Given the description of an element on the screen output the (x, y) to click on. 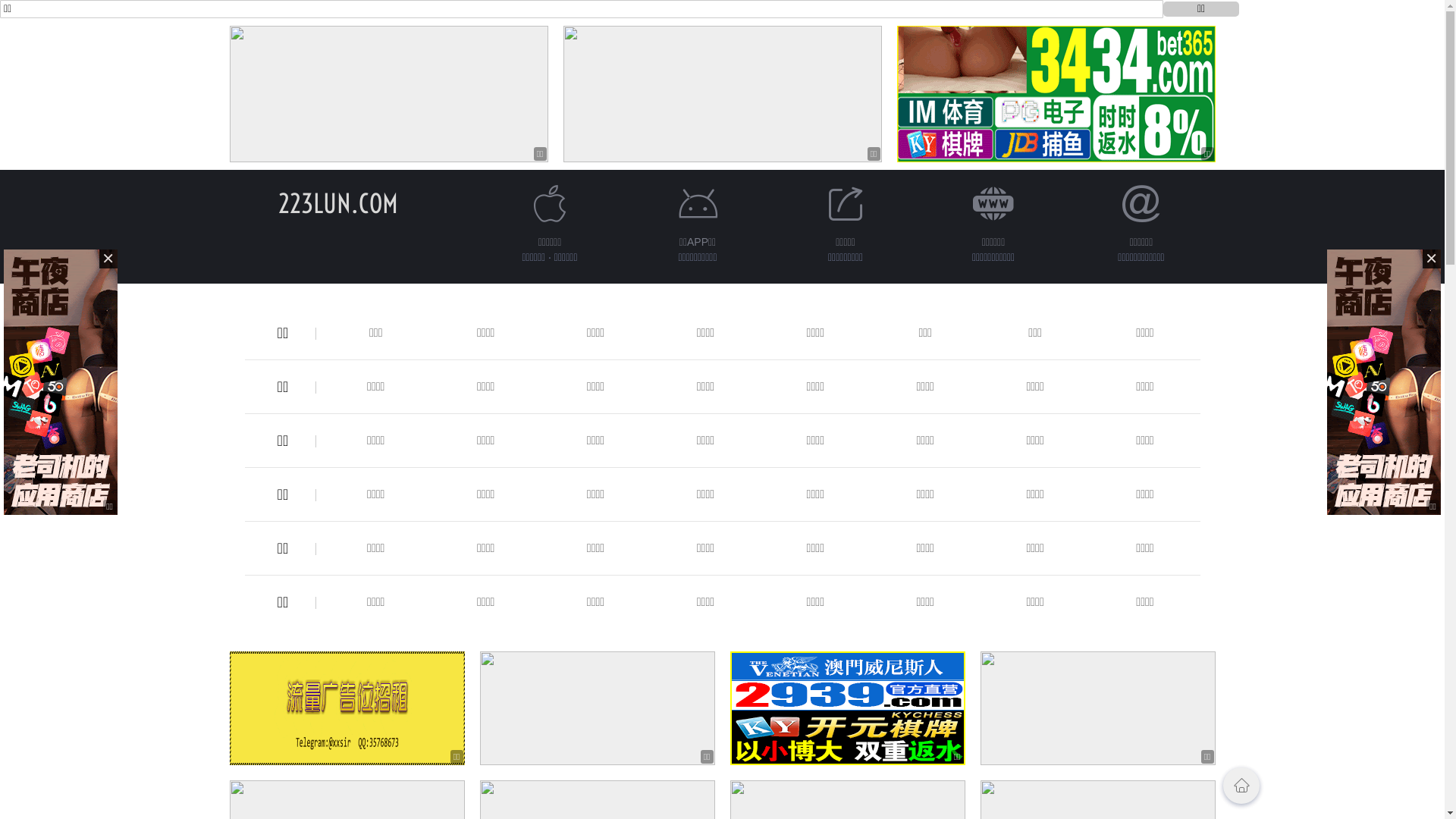
223LUN.COM Element type: text (337, 203)
